Given the description of an element on the screen output the (x, y) to click on. 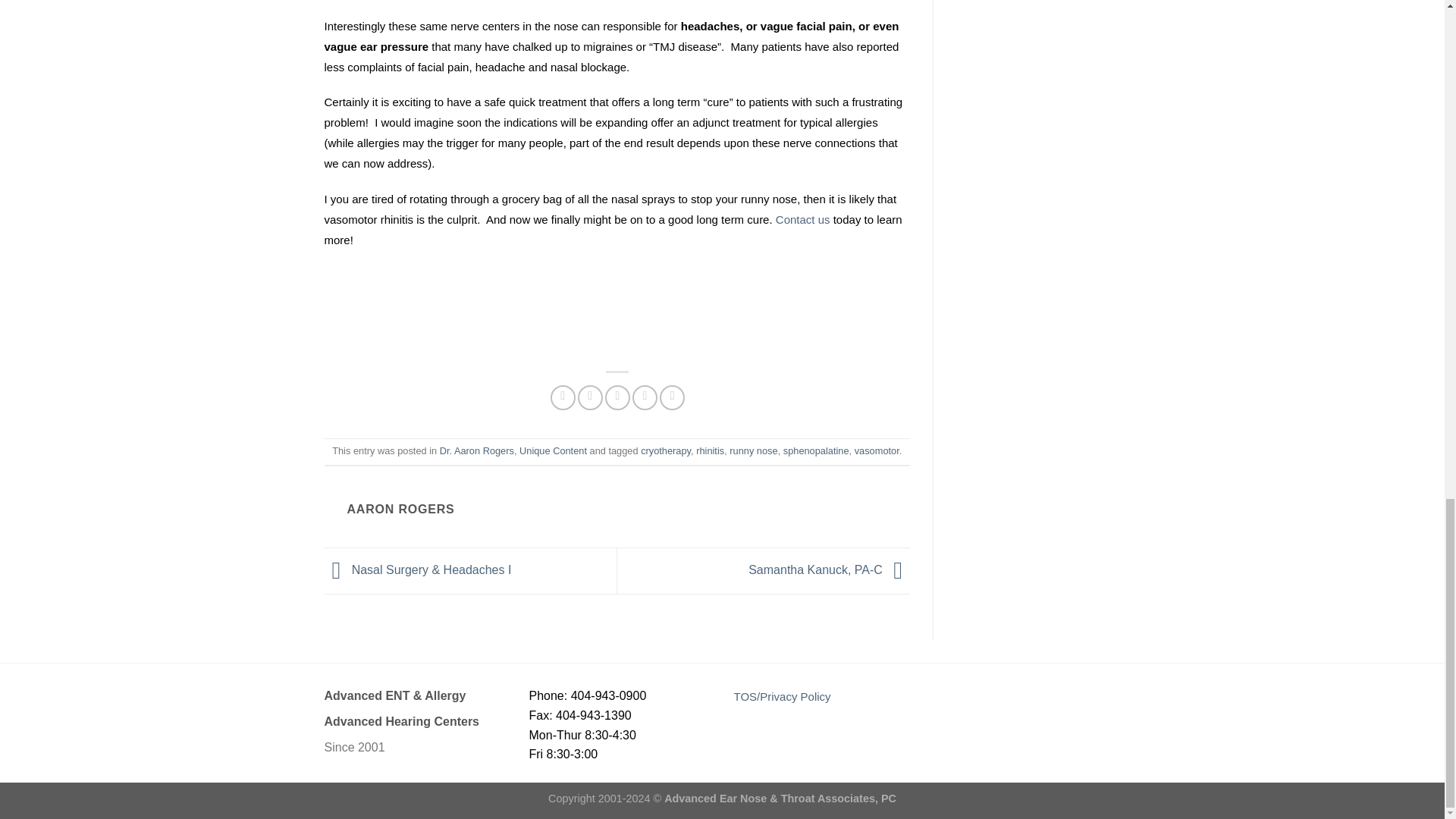
Share on Facebook (562, 397)
Share on Twitter (590, 397)
Pin on Pinterest (644, 397)
Email to a Friend (617, 397)
Share on LinkedIn (671, 397)
